Given the description of an element on the screen output the (x, y) to click on. 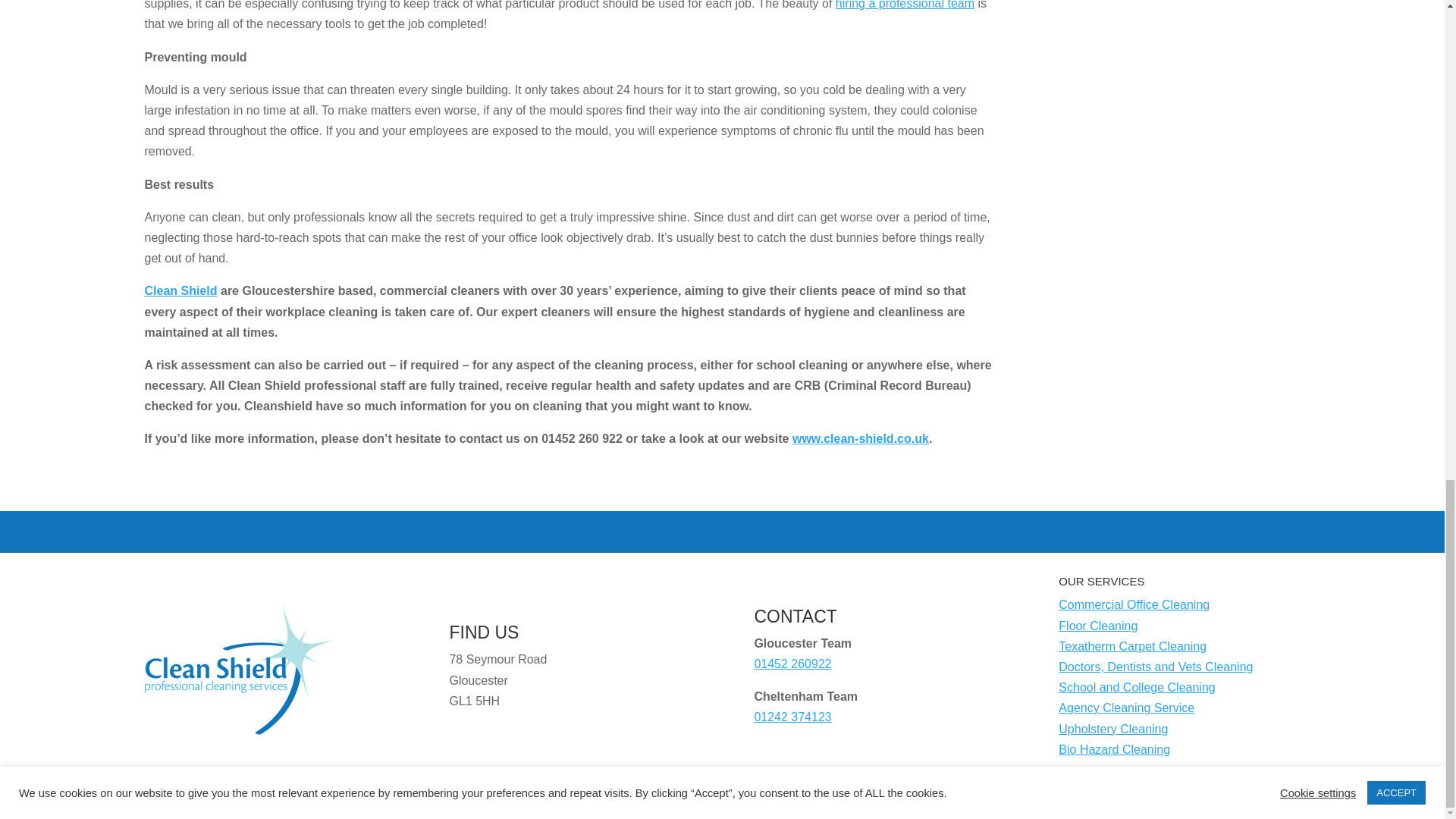
Logo clean shield 250x250 lowres (238, 667)
Doctors, Dentists and Vets Cleaning (1155, 666)
Agency Cleaning Service (1125, 707)
Commercial Office Cleaning (1133, 604)
Texatherm Carpet Cleaning (1132, 645)
Floor Cleaning (1097, 625)
School and College Cleaning (1136, 686)
